Given the description of an element on the screen output the (x, y) to click on. 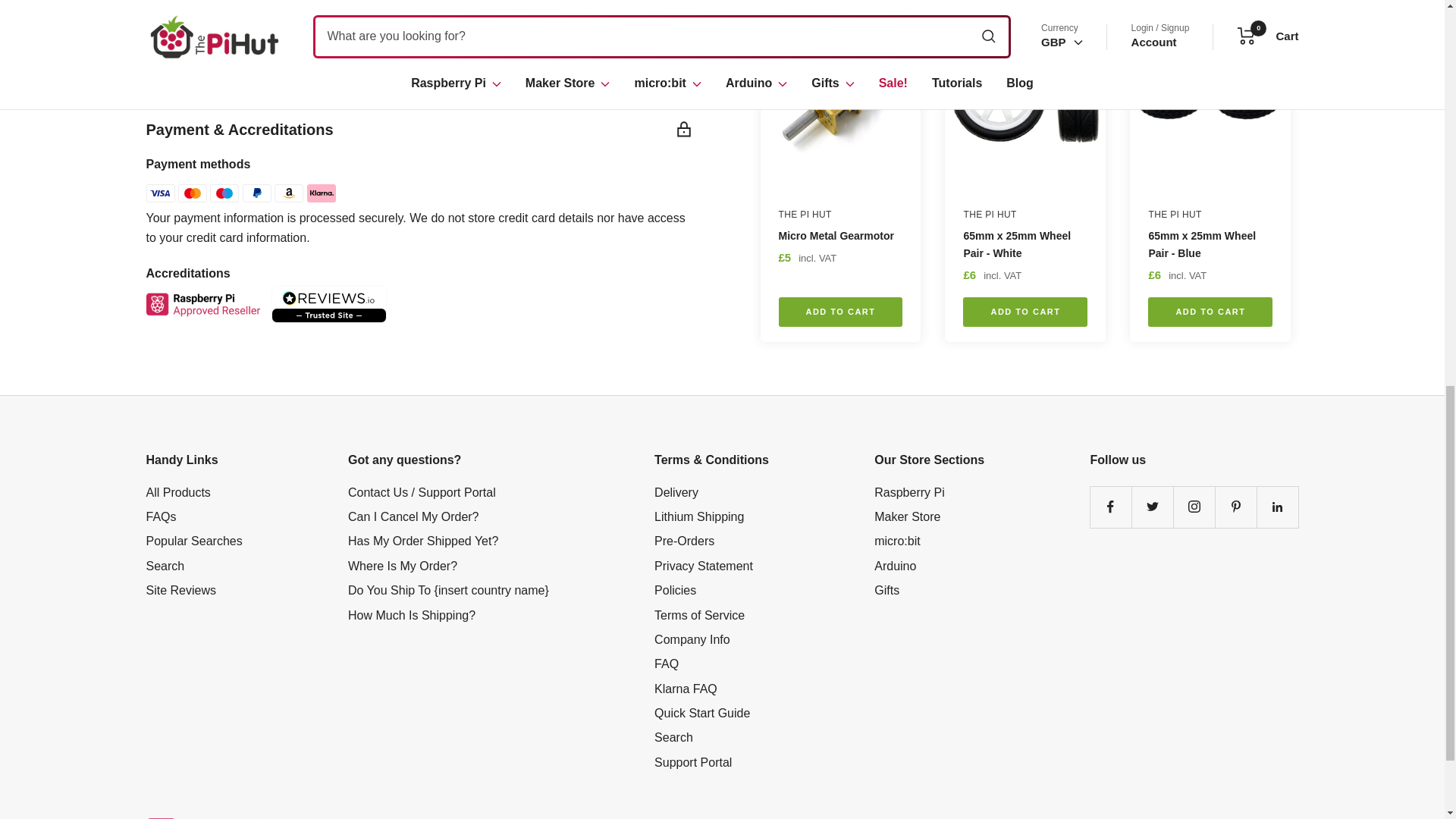
Maestro (223, 193)
Mastercard (191, 193)
Visa (159, 193)
